Given the description of an element on the screen output the (x, y) to click on. 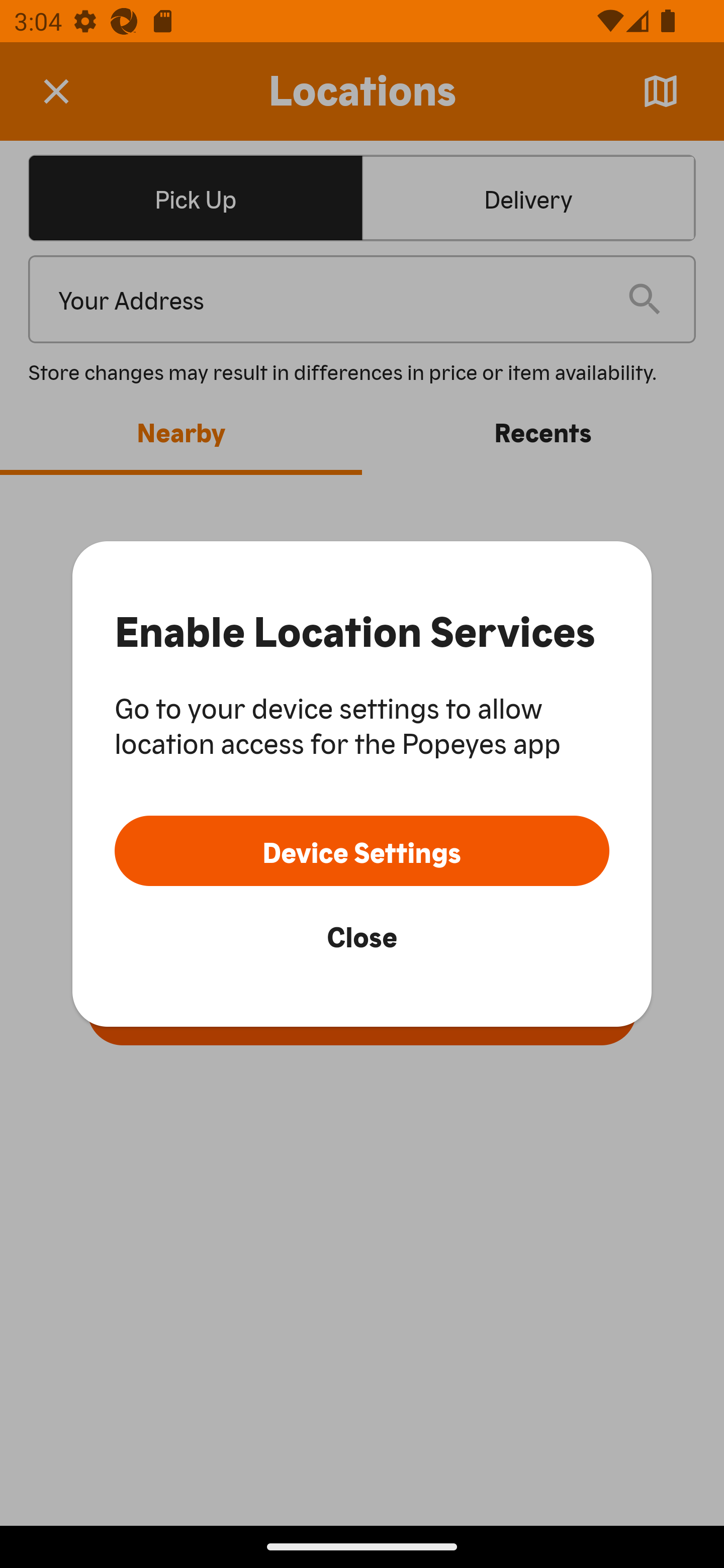
Device Settings (361, 850)
Close (361, 935)
